Given the description of an element on the screen output the (x, y) to click on. 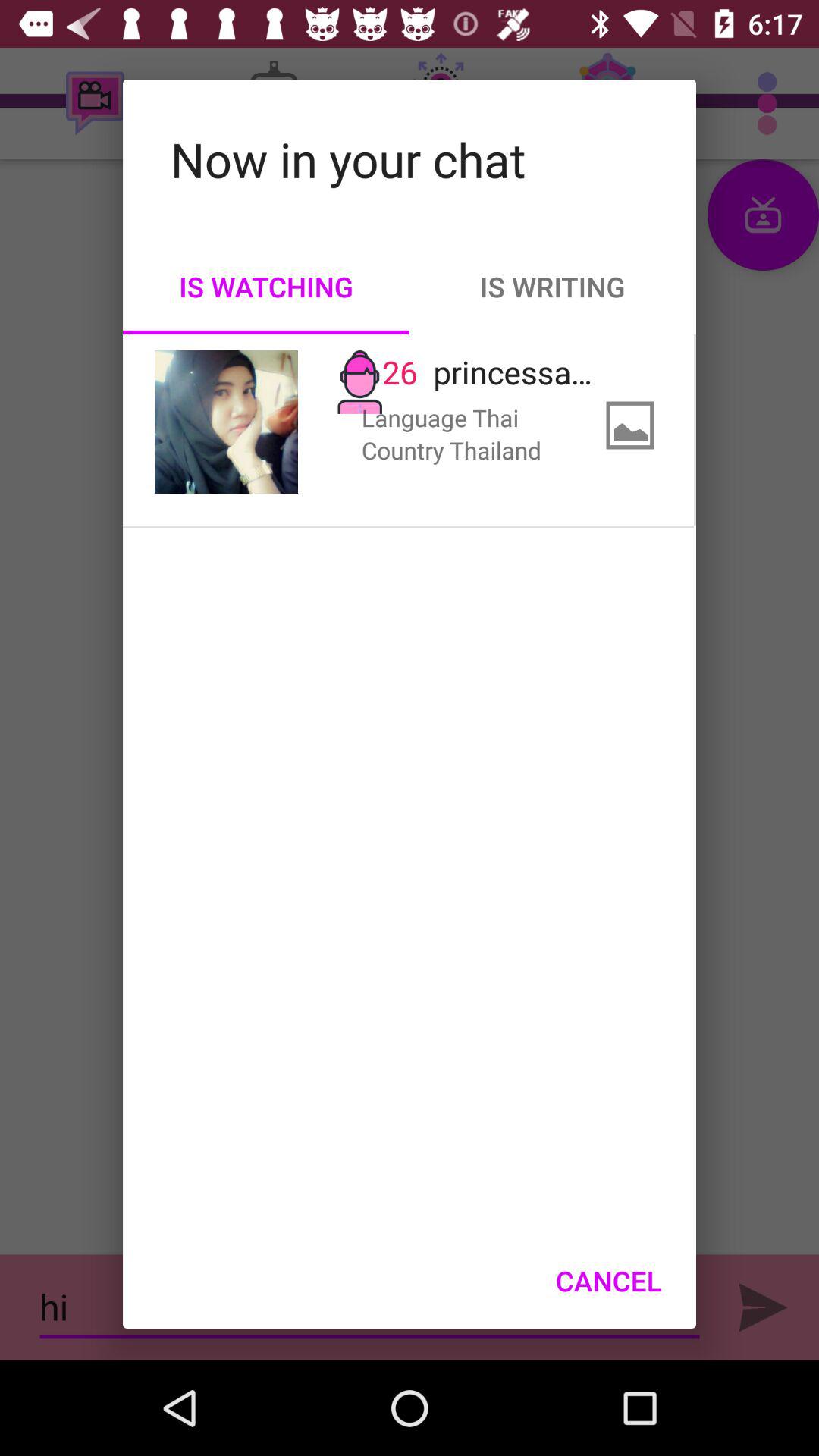
turn off icon at the bottom right corner (608, 1280)
